Given the description of an element on the screen output the (x, y) to click on. 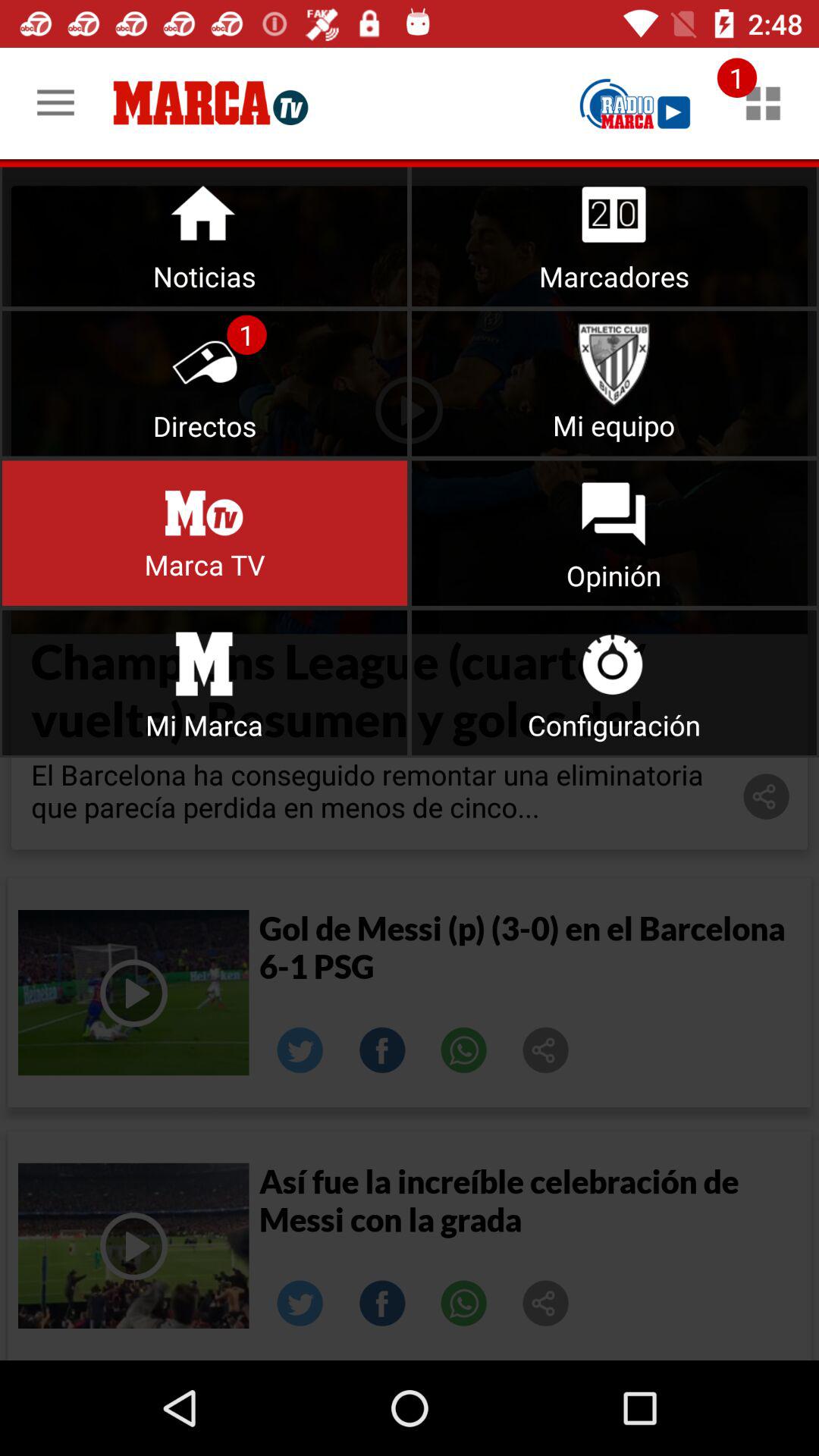
share the video facebook (382, 1050)
